Given the description of an element on the screen output the (x, y) to click on. 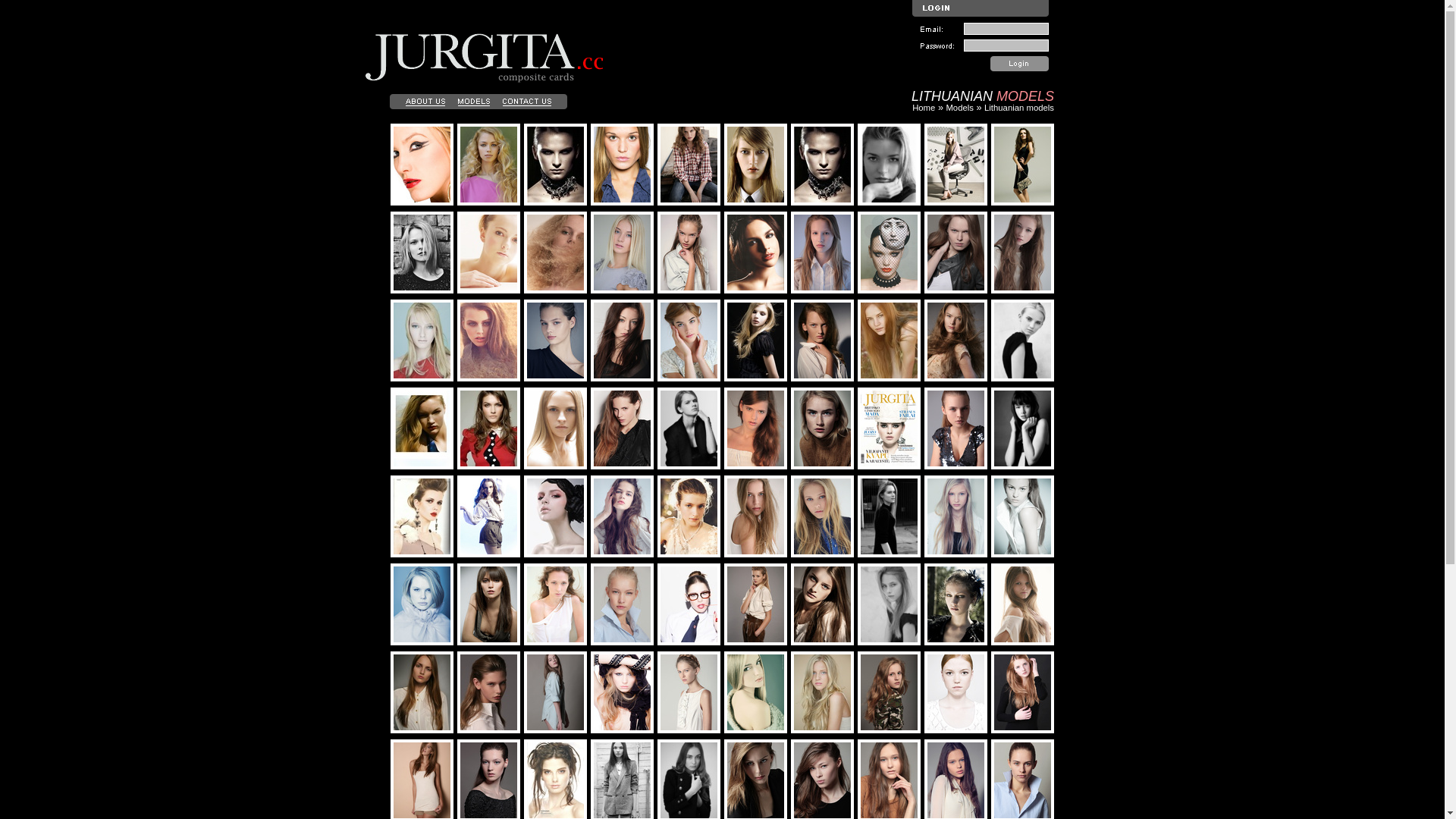
Home Element type: text (923, 107)
Models Element type: text (959, 107)
Lithuanian models Element type: text (1019, 107)
